Given the description of an element on the screen output the (x, y) to click on. 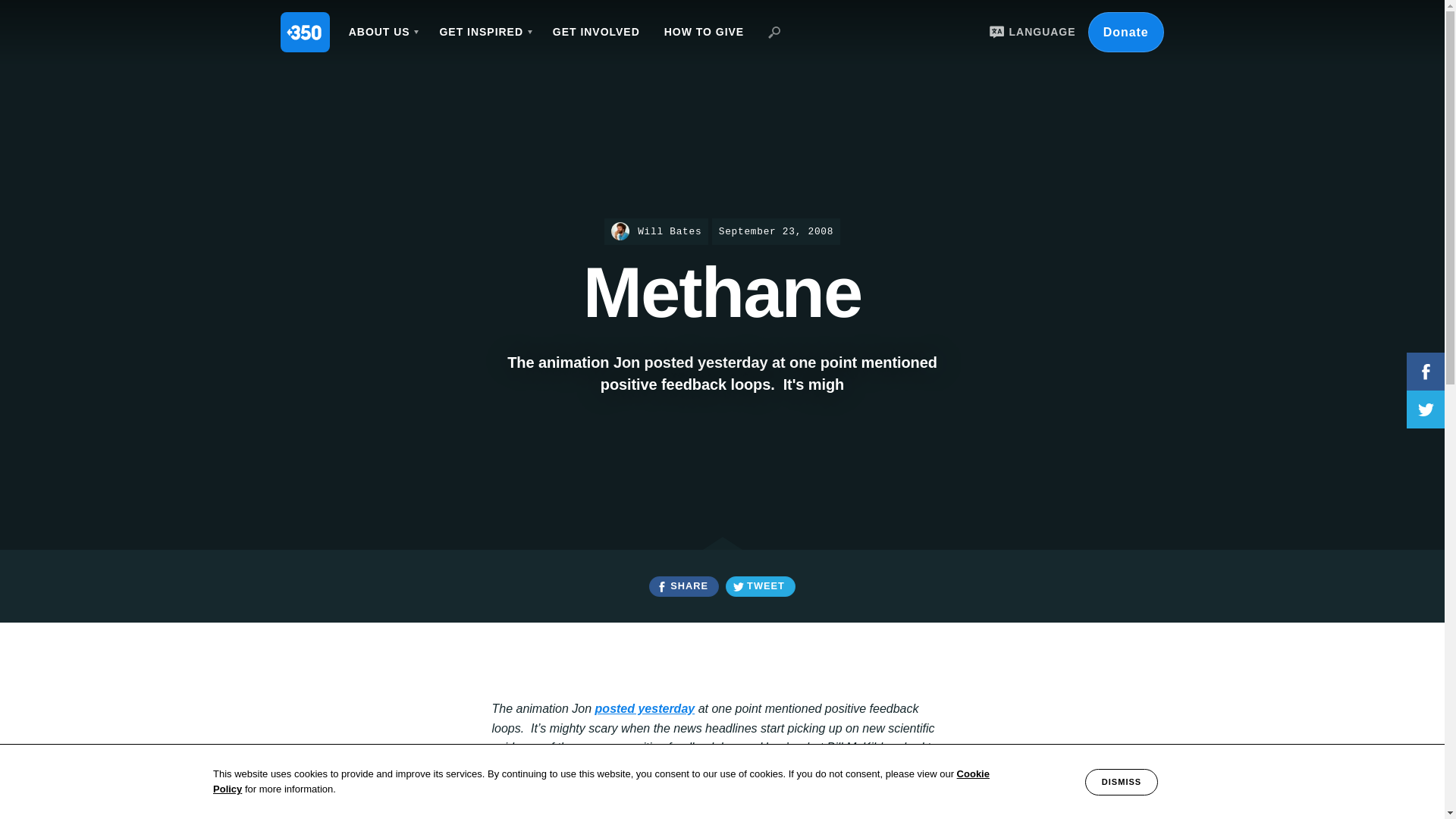
LANGUAGE (1029, 32)
Jon's Blog Post (645, 707)
Donate (1125, 32)
SHARE (683, 586)
GET INSPIRED (483, 32)
posted yesterday (645, 707)
ABOUT US (382, 32)
350 (305, 32)
Methane Article (725, 766)
TWEET (759, 586)
HOW TO GIVE (703, 32)
GET INVOLVED (596, 32)
